Given the description of an element on the screen output the (x, y) to click on. 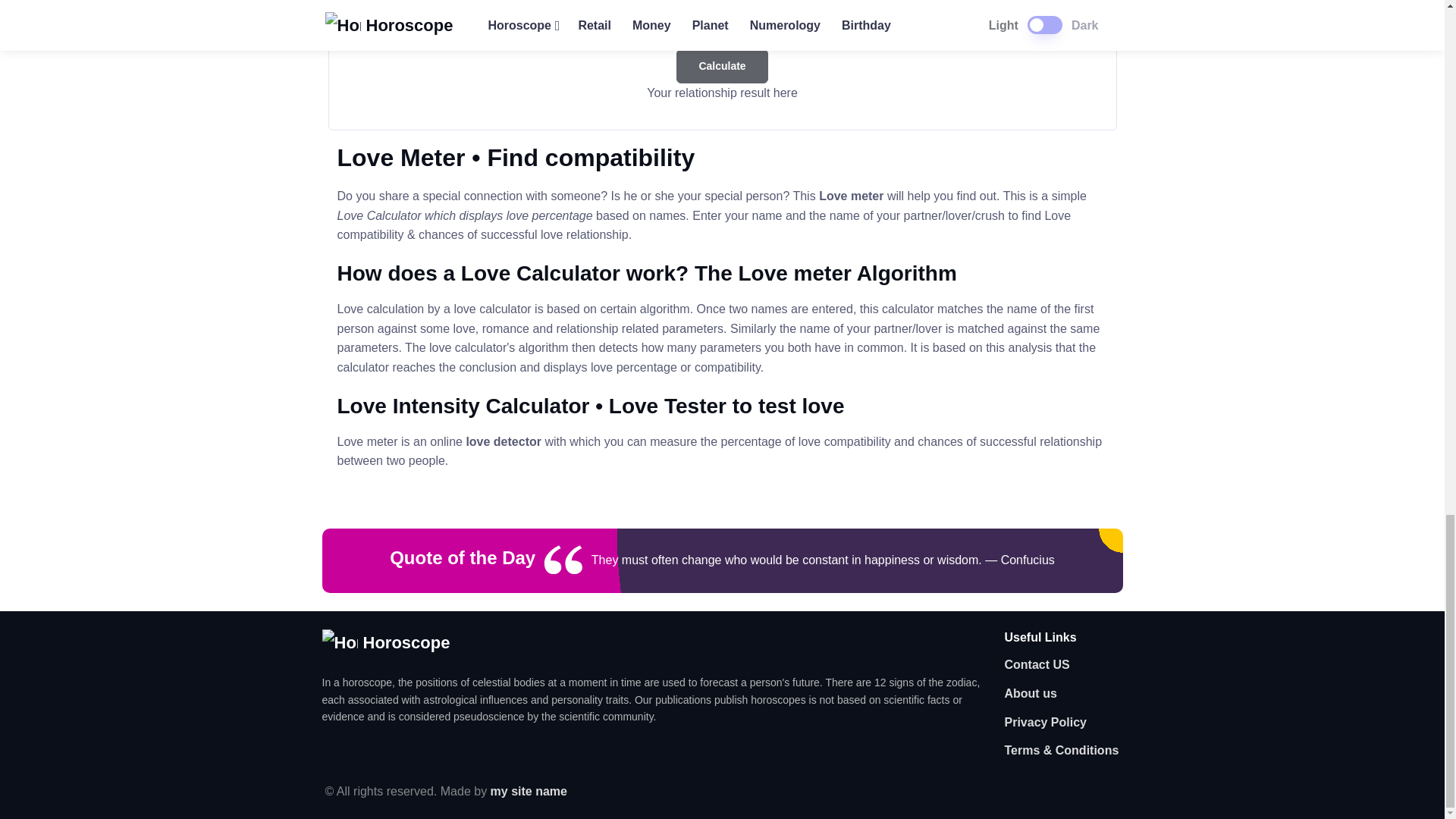
Calculate (722, 65)
